Given the description of an element on the screen output the (x, y) to click on. 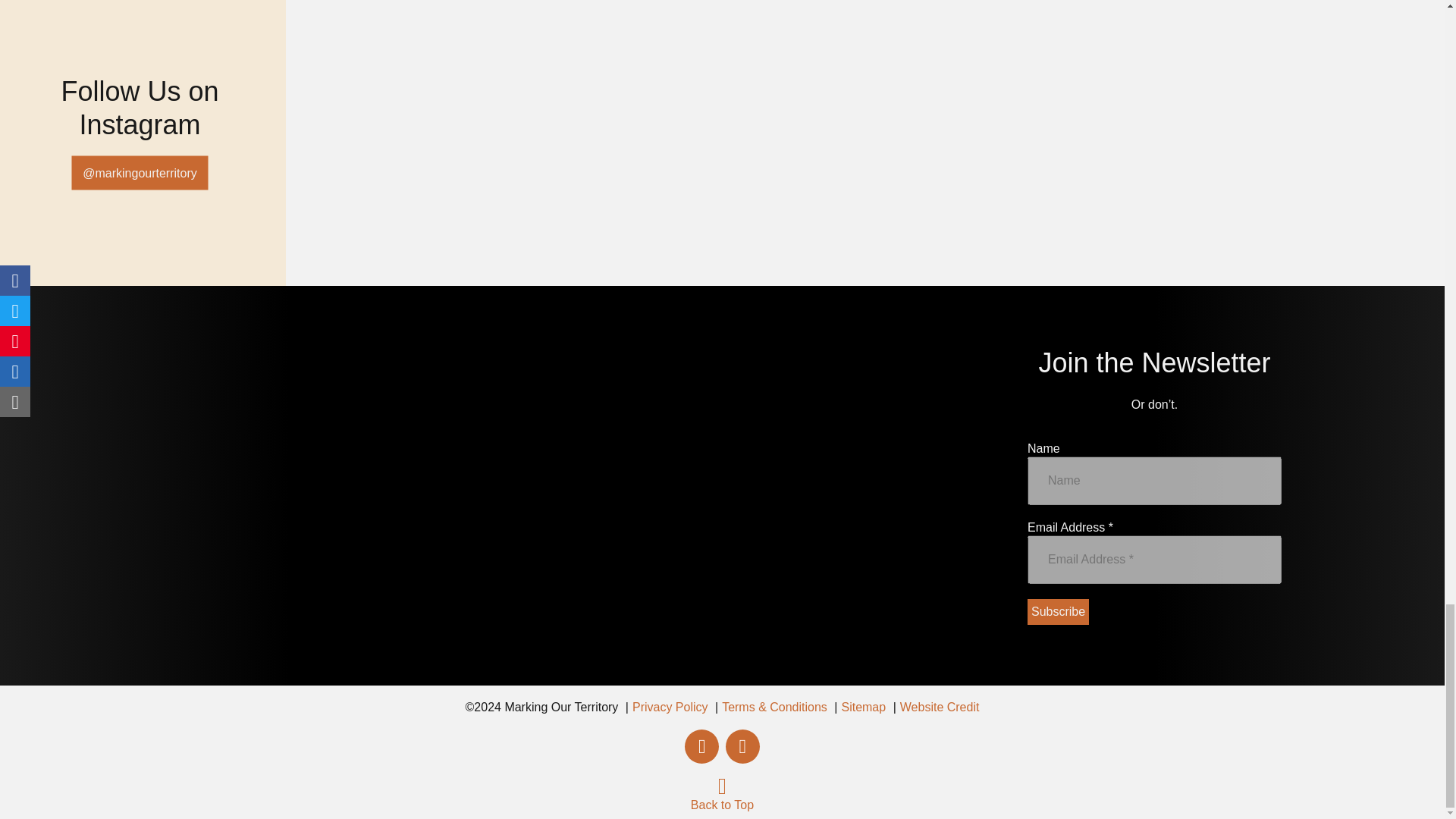
Name (1154, 480)
Subscribe (1058, 611)
Email Address (1154, 559)
